Given the description of an element on the screen output the (x, y) to click on. 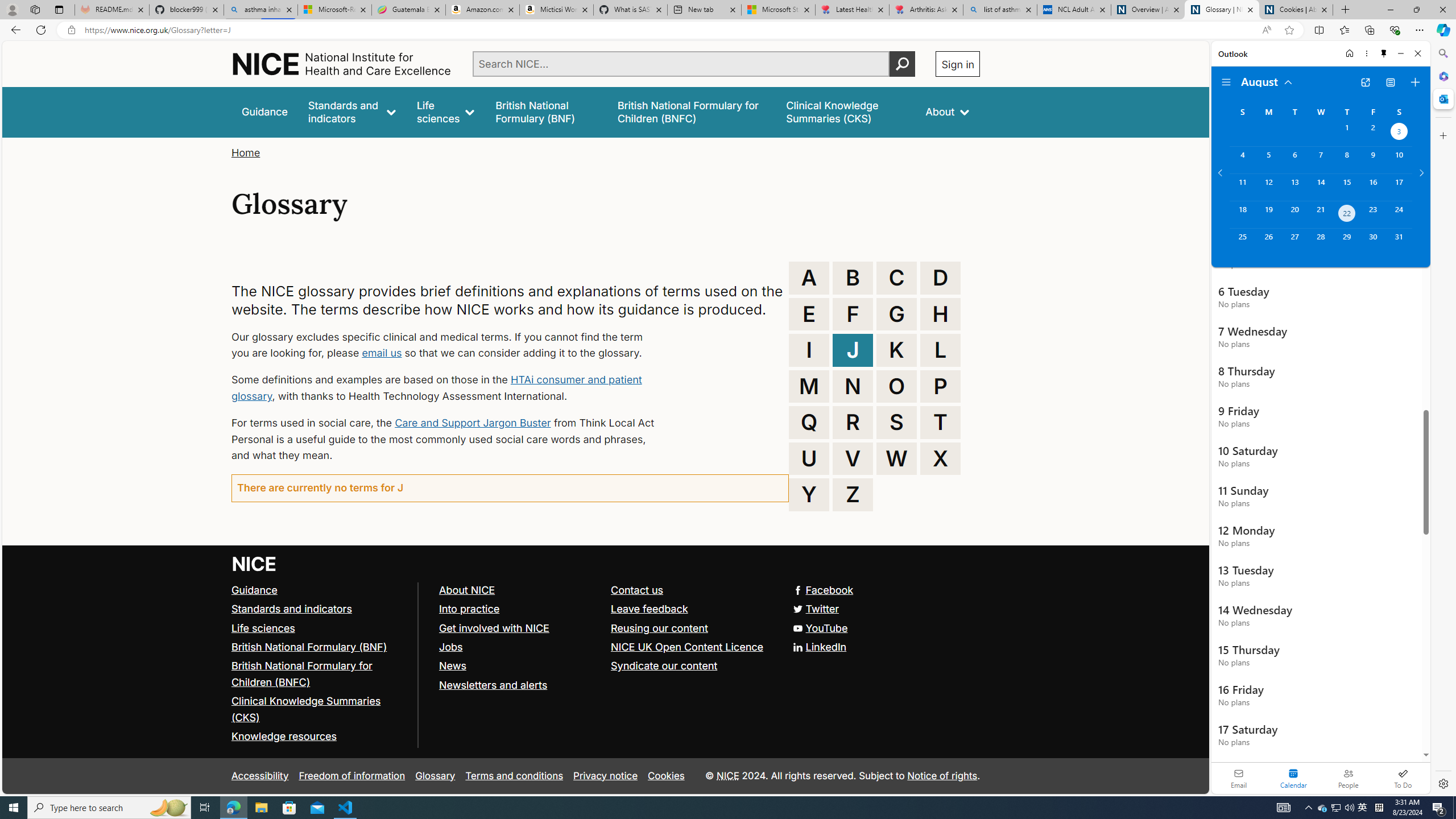
Get involved with NICE (493, 627)
